Given the description of an element on the screen output the (x, y) to click on. 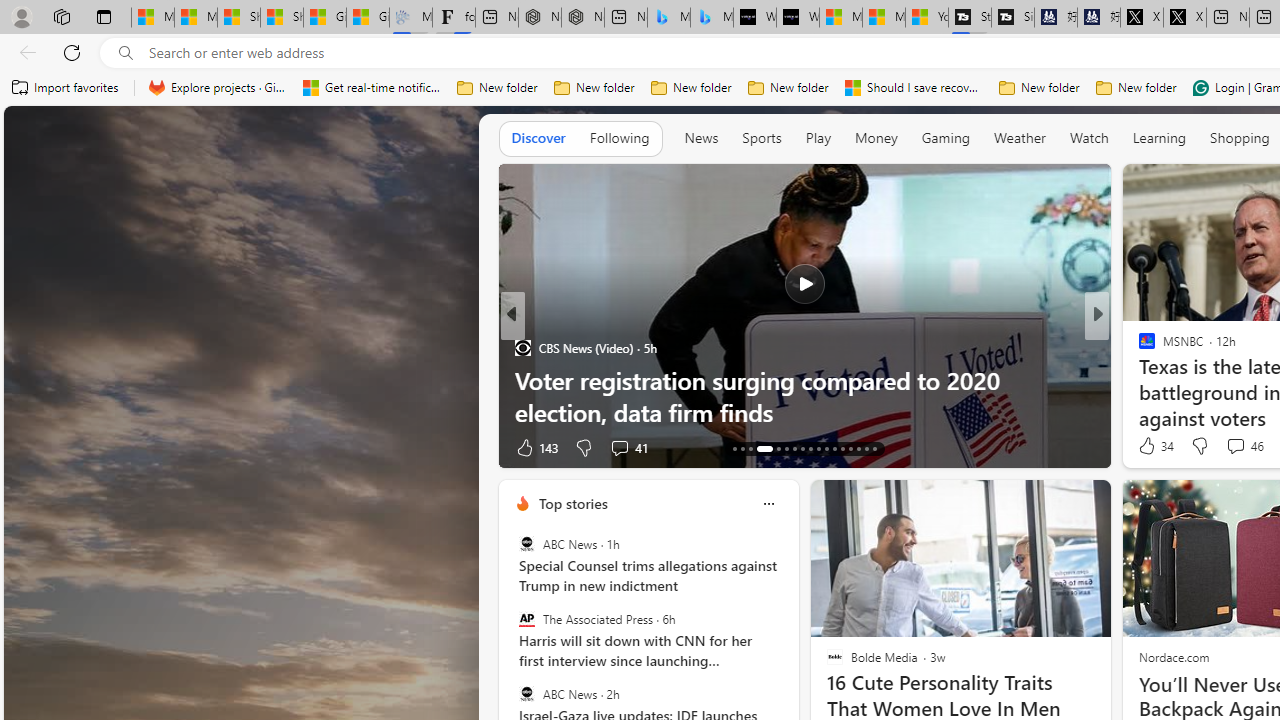
Tom's Guide (1138, 380)
View comments 23 Comment (1237, 447)
Microsoft Bing Travel - Stays in Bangkok, Bangkok, Thailand (668, 17)
ABC News (526, 693)
Sports (761, 137)
Cents + Purpose (1138, 380)
Play (817, 137)
View comments 6 Comment (1241, 447)
Eat This, Not That! (522, 380)
Streaming Coverage | T3 (969, 17)
Top stories (572, 503)
